Given the description of an element on the screen output the (x, y) to click on. 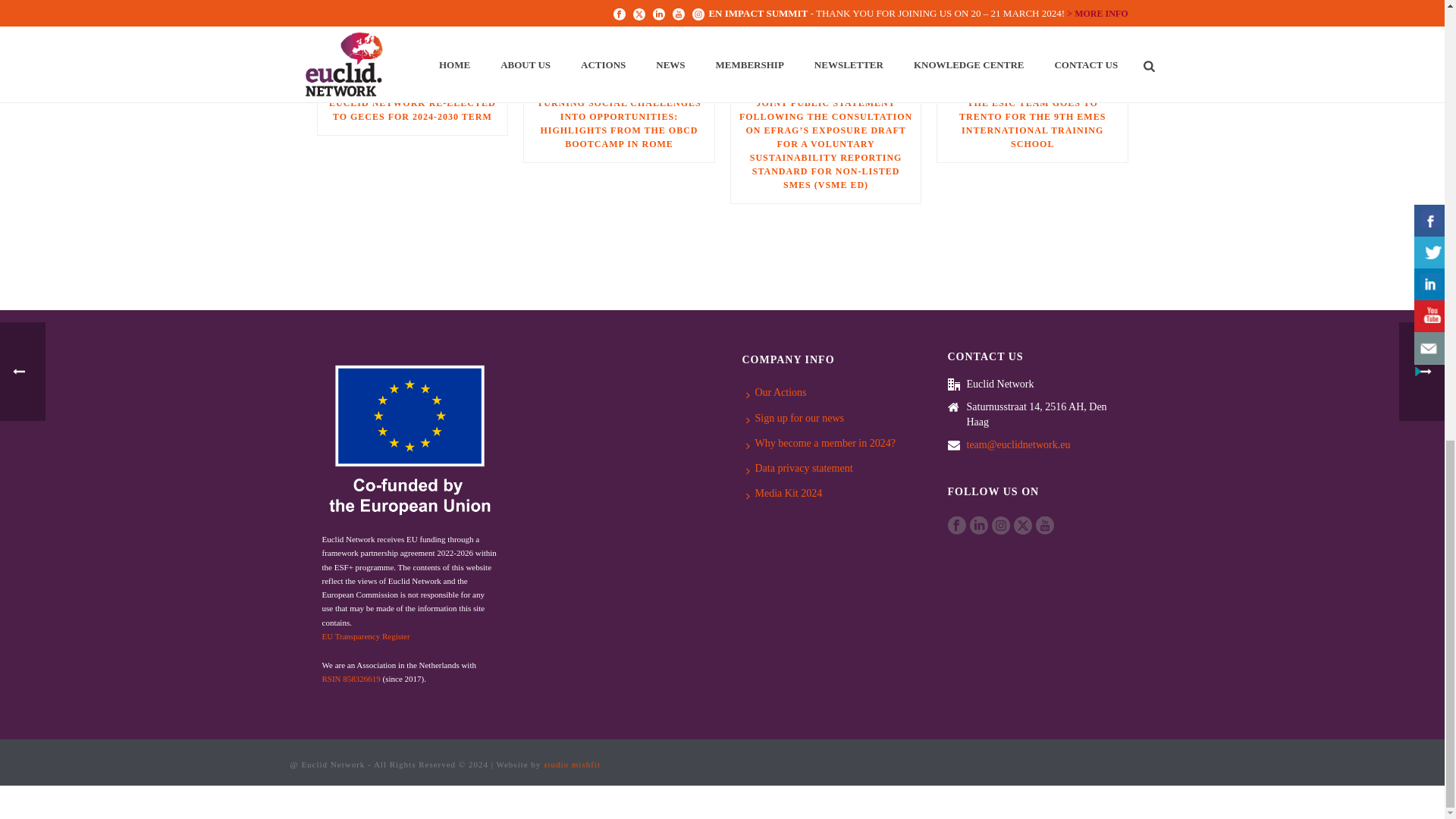
Follow Us on linkedin (978, 525)
Follow Us on instagram (1000, 525)
Follow Us on facebook (956, 525)
Follow Us on youtube (1044, 525)
Follow Us on twitter (1021, 525)
